Given the description of an element on the screen output the (x, y) to click on. 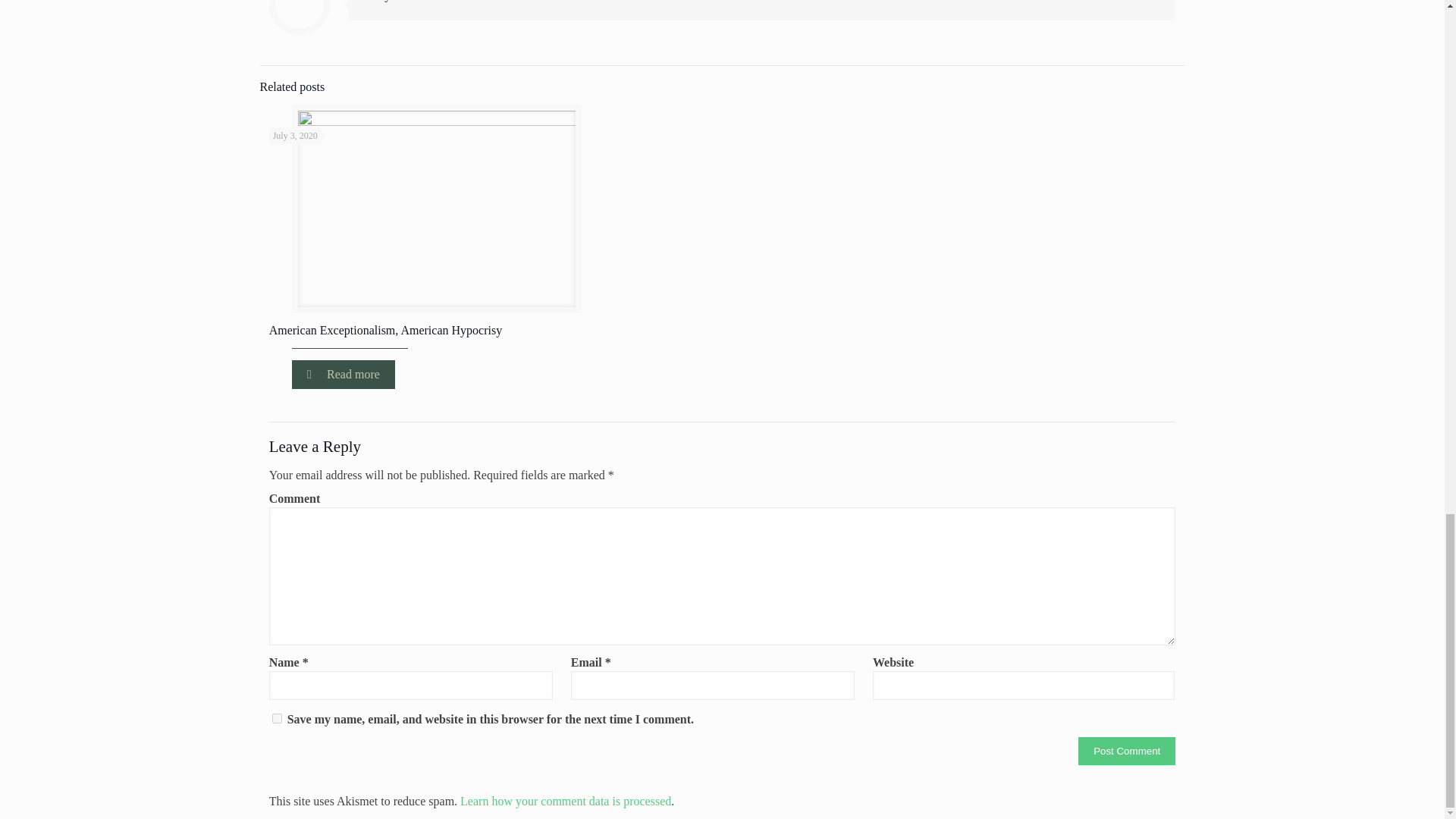
Post Comment (1126, 750)
Post Comment (1126, 750)
Learn how your comment data is processed (565, 800)
American Exceptionalism, American Hypocrisy (385, 329)
Larry Reed (391, 0)
yes (277, 718)
Read more (343, 374)
